Given the description of an element on the screen output the (x, y) to click on. 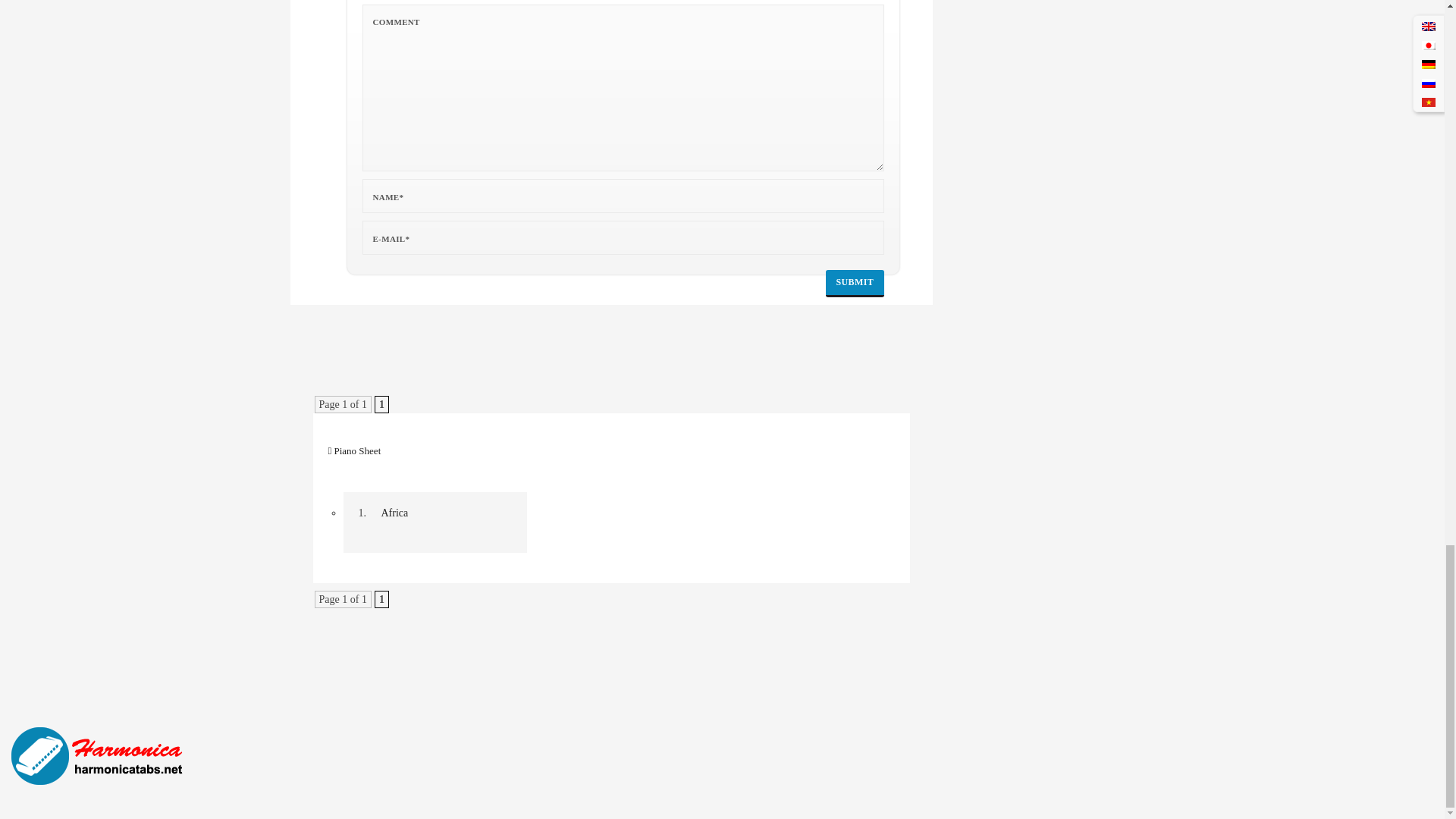
Africa (98, 756)
SUBMIT (855, 283)
